Given the description of an element on the screen output the (x, y) to click on. 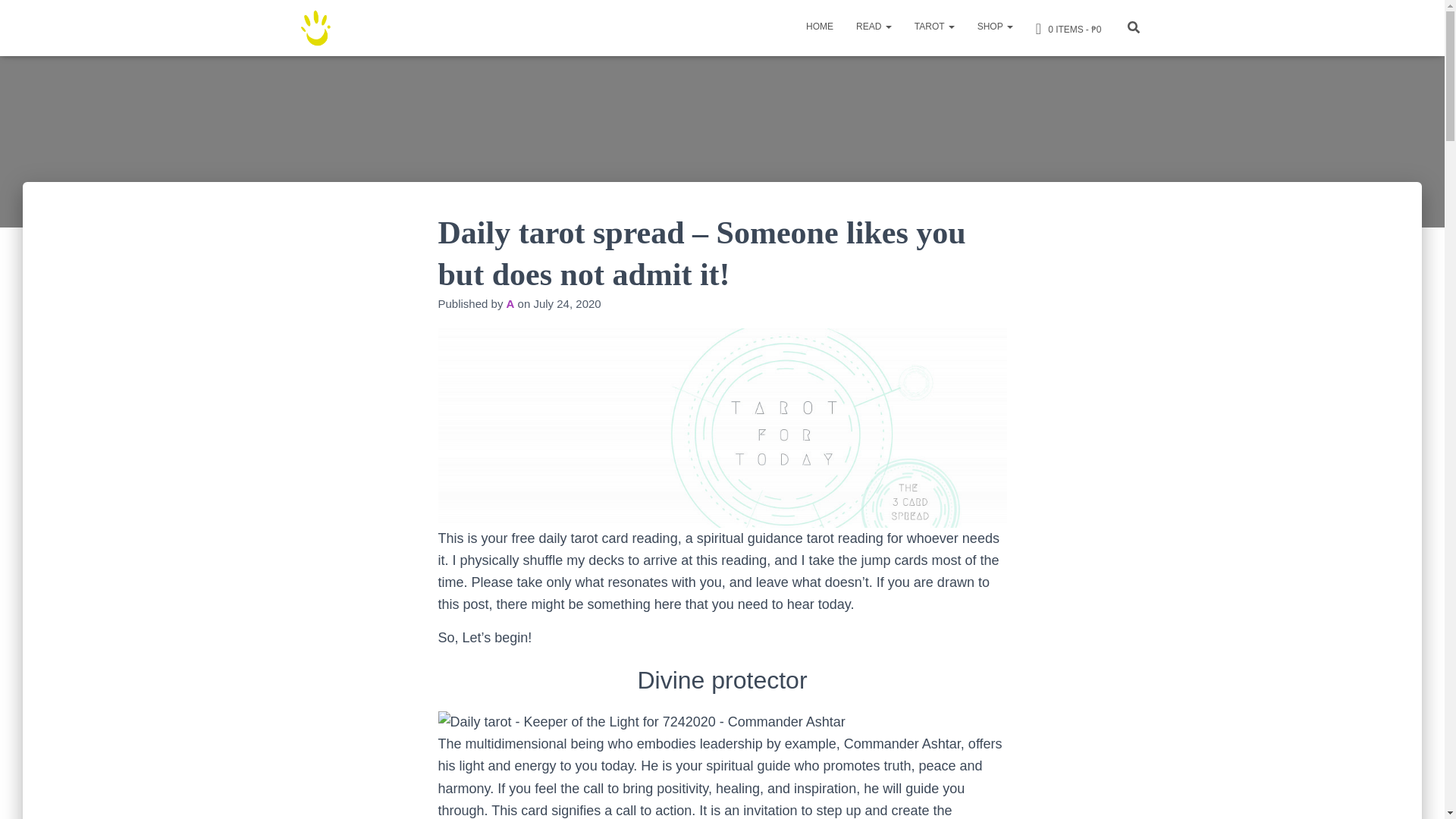
Home (819, 26)
READ (873, 26)
HOME (819, 26)
TAROT (934, 26)
READ (873, 26)
TAROT (934, 26)
Shop (995, 26)
SHOP (995, 26)
High Fives High Vibes (317, 27)
Search (16, 16)
